Given the description of an element on the screen output the (x, y) to click on. 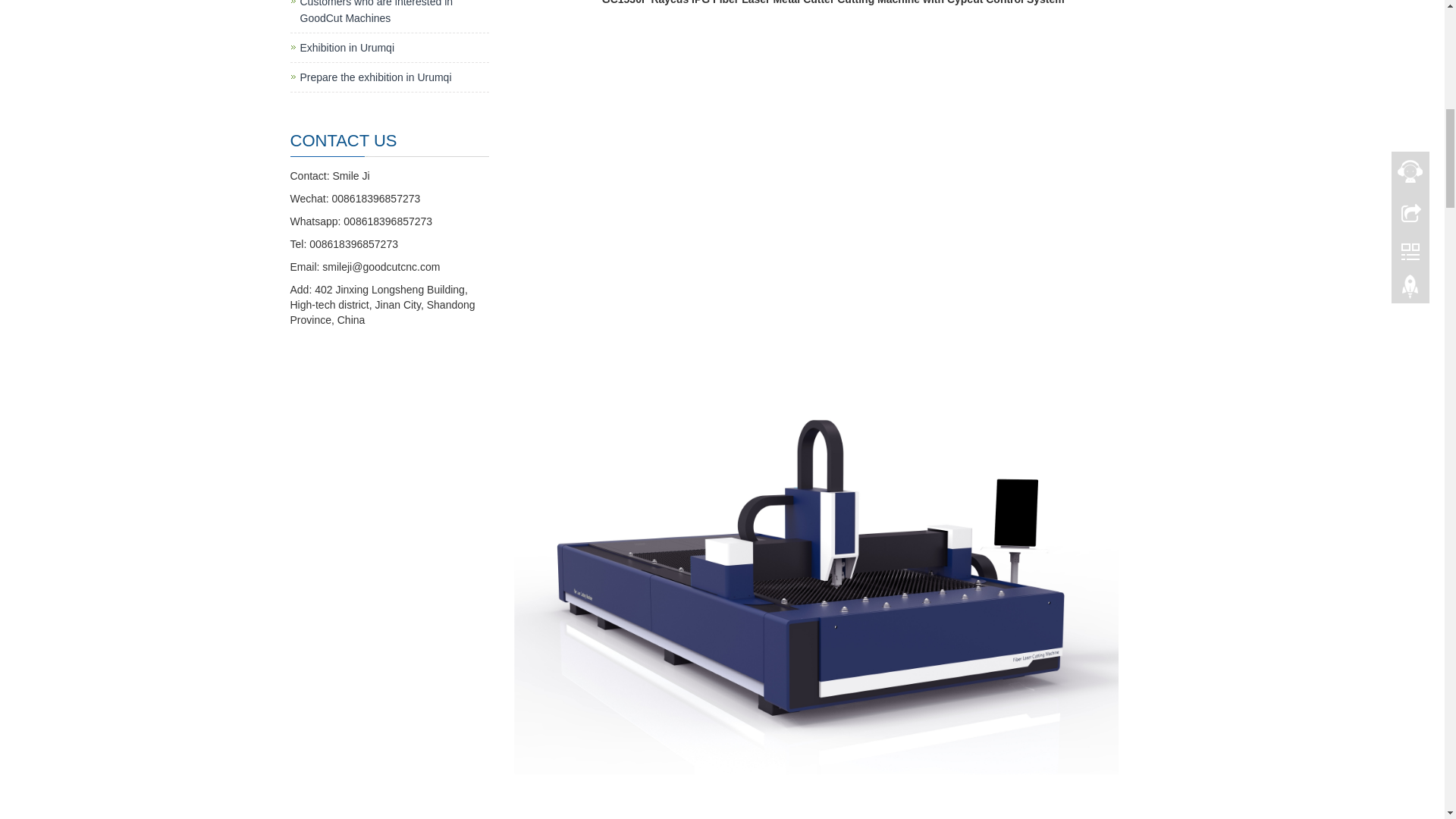
Prepare the exhibition in Urumqi (375, 77)
Customers who are interested in GoodCut Machines (375, 12)
Exhibition in Urumqi (346, 47)
